Given the description of an element on the screen output the (x, y) to click on. 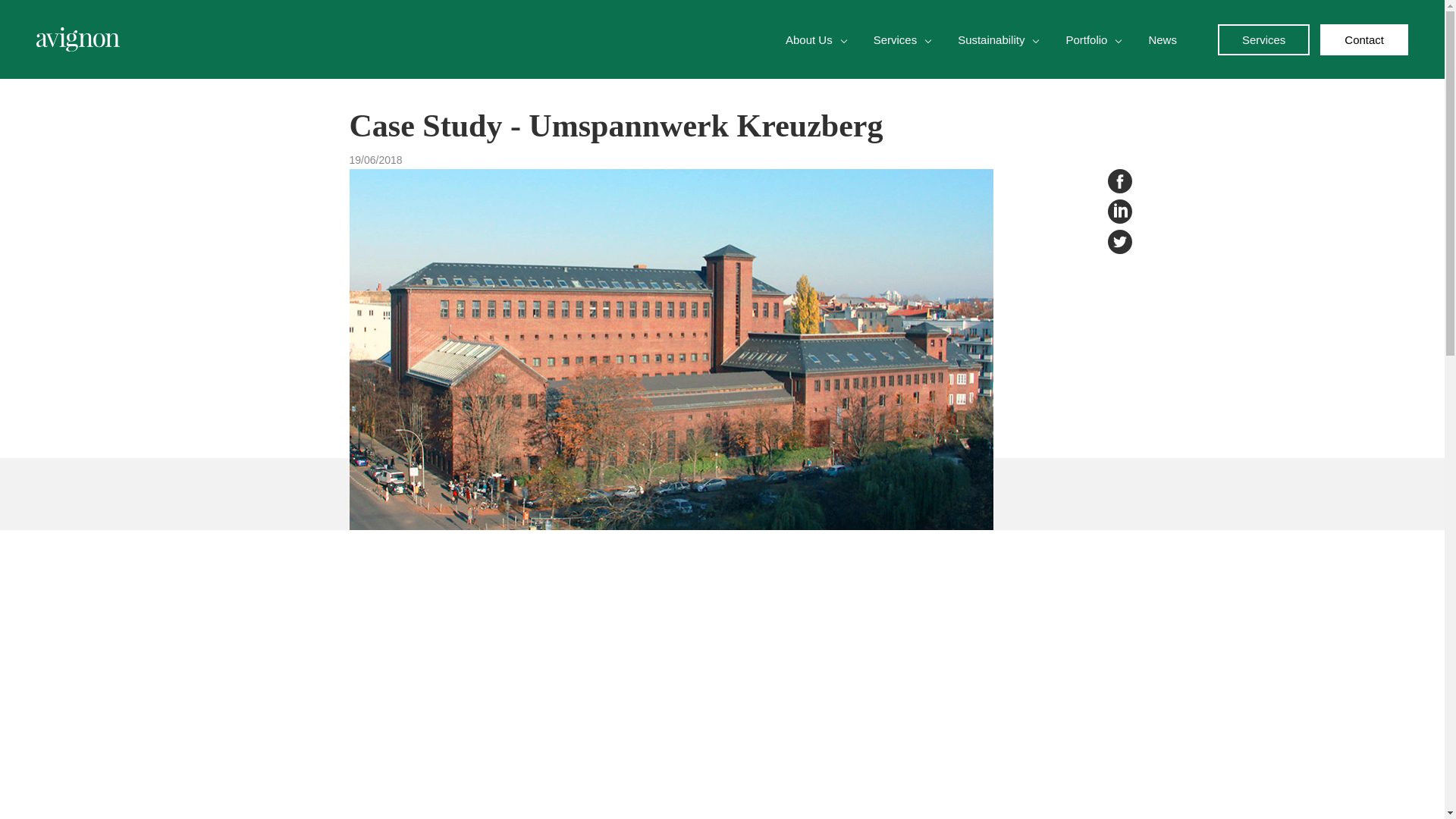
avignon (77, 39)
About Us (809, 39)
Portfolio (1085, 39)
Services (1262, 39)
News (1162, 39)
Contact (1363, 39)
avignon (77, 39)
Services (895, 39)
News (244, 45)
Sustainability (991, 39)
